Given the description of an element on the screen output the (x, y) to click on. 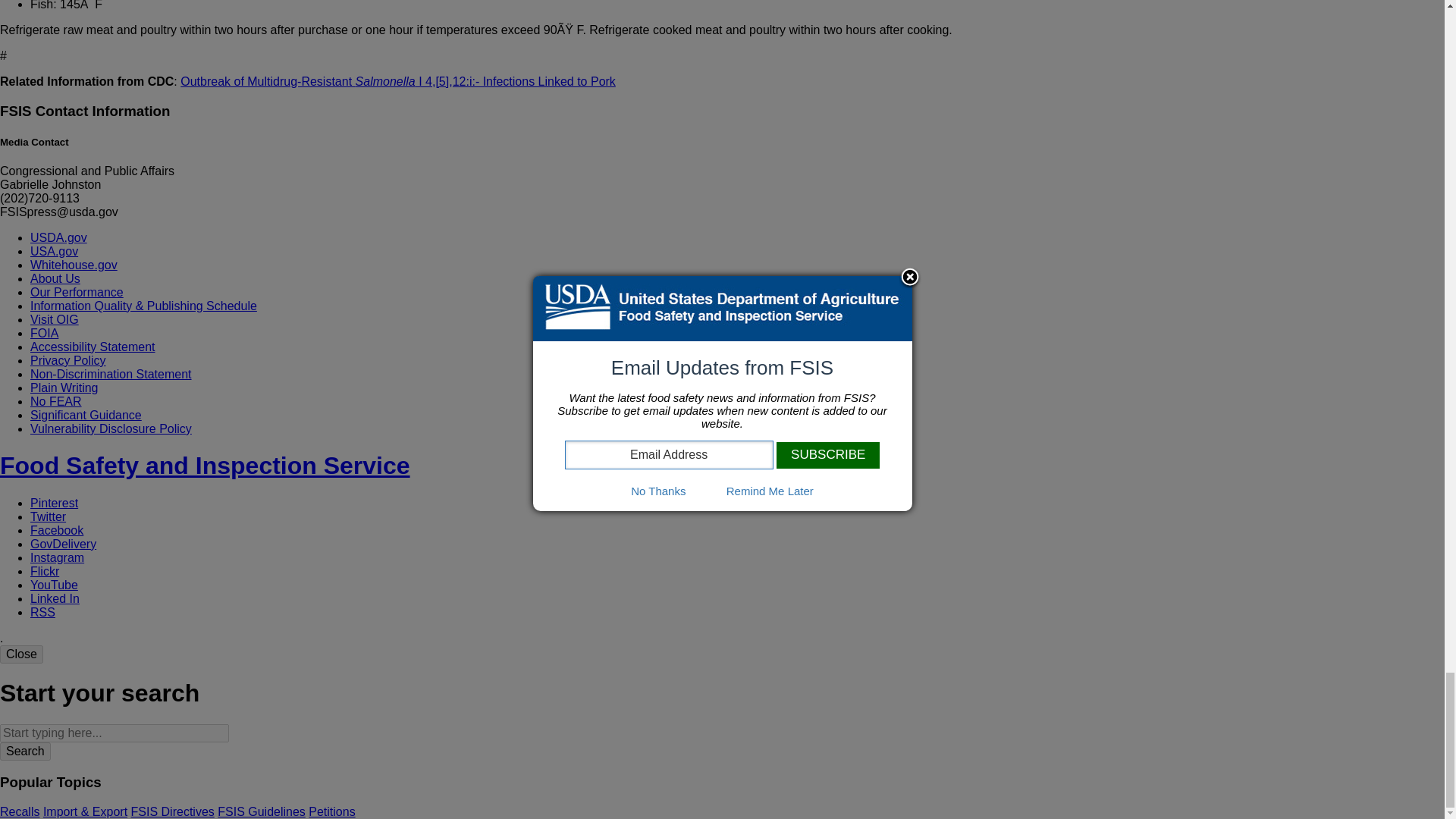
keywords (114, 732)
Search (25, 751)
